Given the description of an element on the screen output the (x, y) to click on. 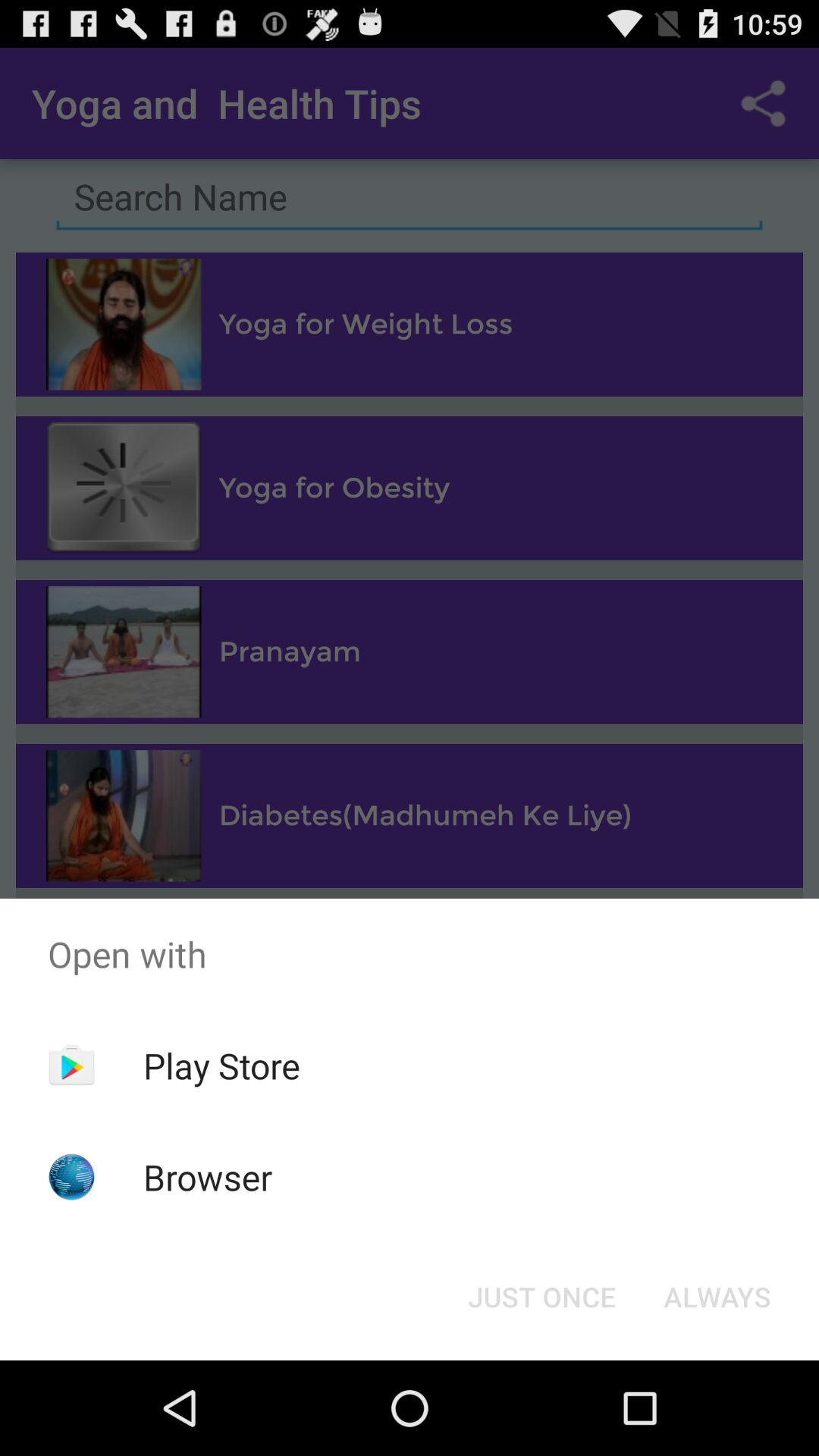
choose button to the left of the always icon (541, 1296)
